Given the description of an element on the screen output the (x, y) to click on. 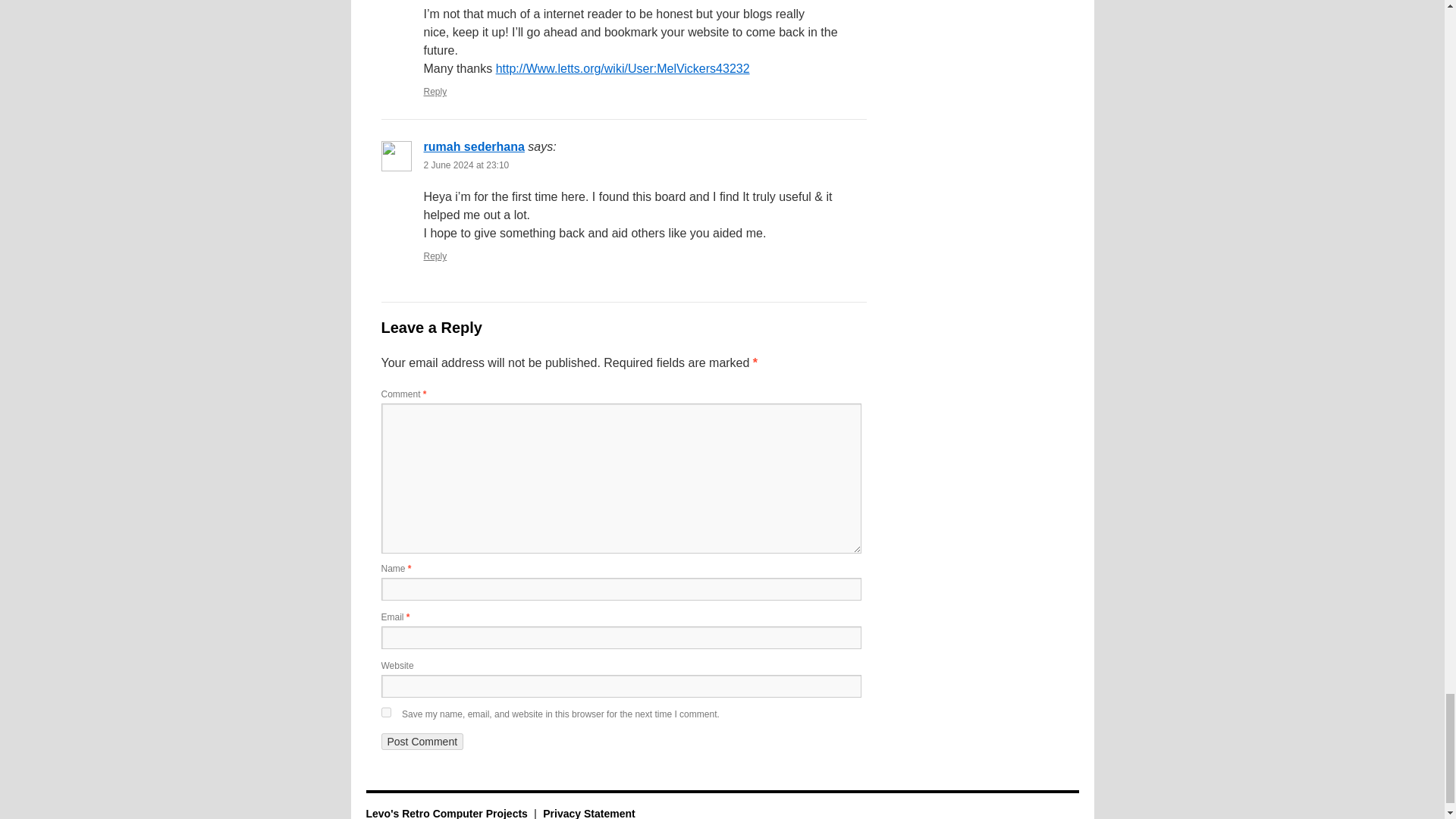
Reply (434, 255)
Reply (434, 91)
Post Comment (421, 741)
2 June 2024 at 23:10 (465, 164)
rumah sederhana (473, 146)
yes (385, 712)
Post Comment (421, 741)
